Given the description of an element on the screen output the (x, y) to click on. 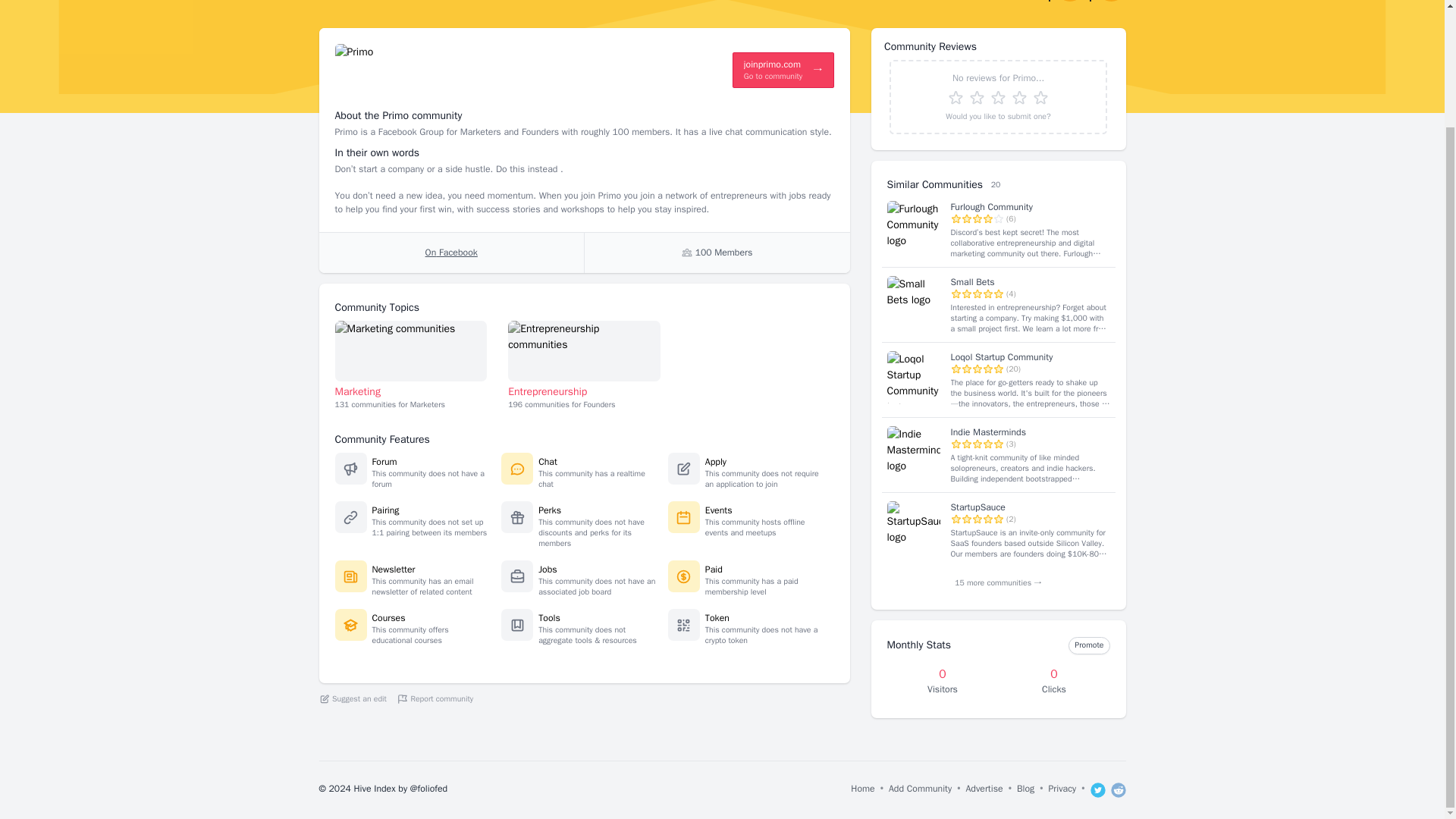
View details for Marketing (410, 350)
Tools (549, 617)
Jobs (547, 569)
Promote (1088, 645)
Perks (549, 510)
View details for Entrepreneurship (584, 350)
On Facebook (997, 96)
Home (450, 252)
Newsletter (862, 789)
